Given the description of an element on the screen output the (x, y) to click on. 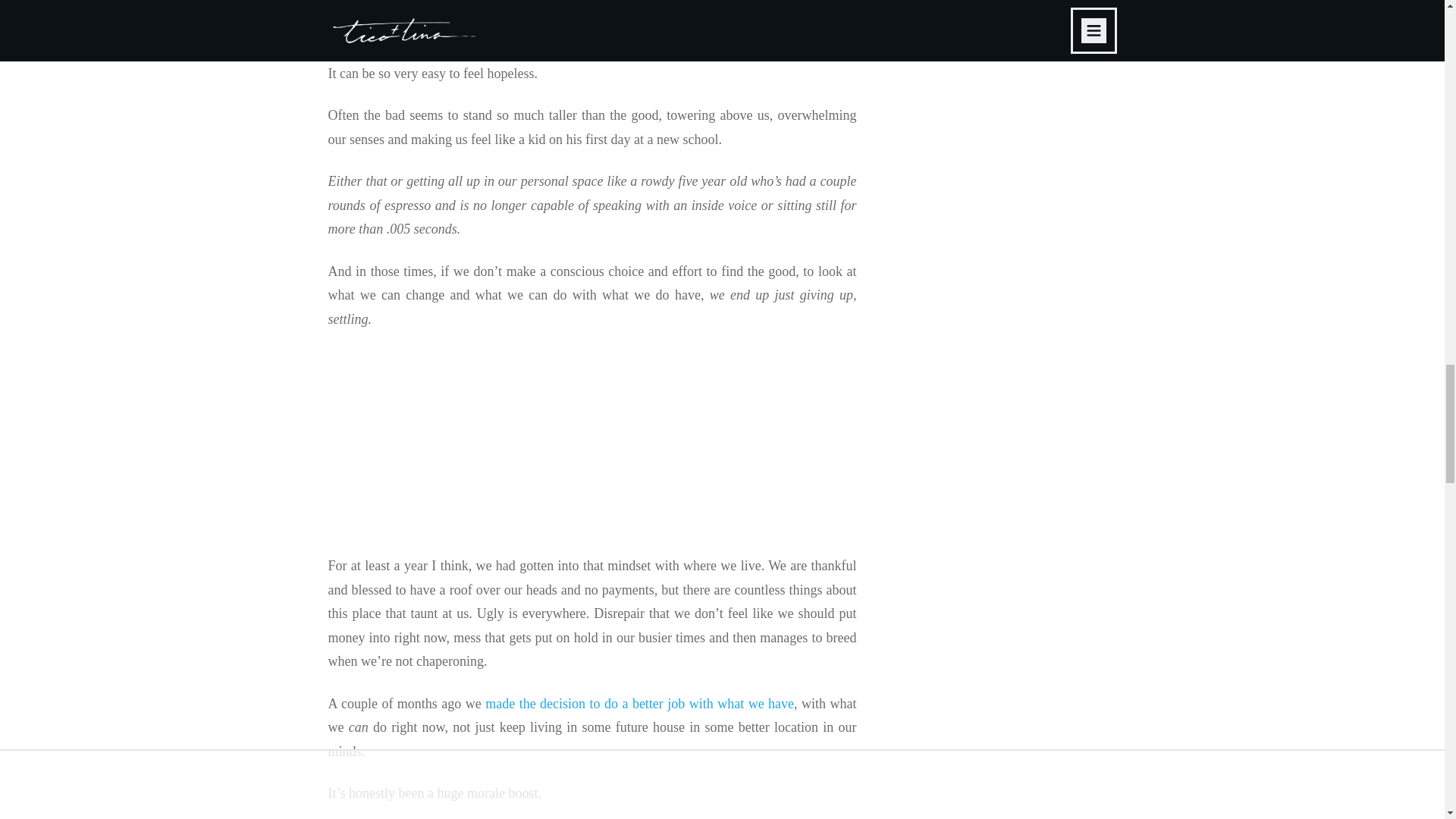
made the decision to do a better job with what we have (638, 703)
